Given the description of an element on the screen output the (x, y) to click on. 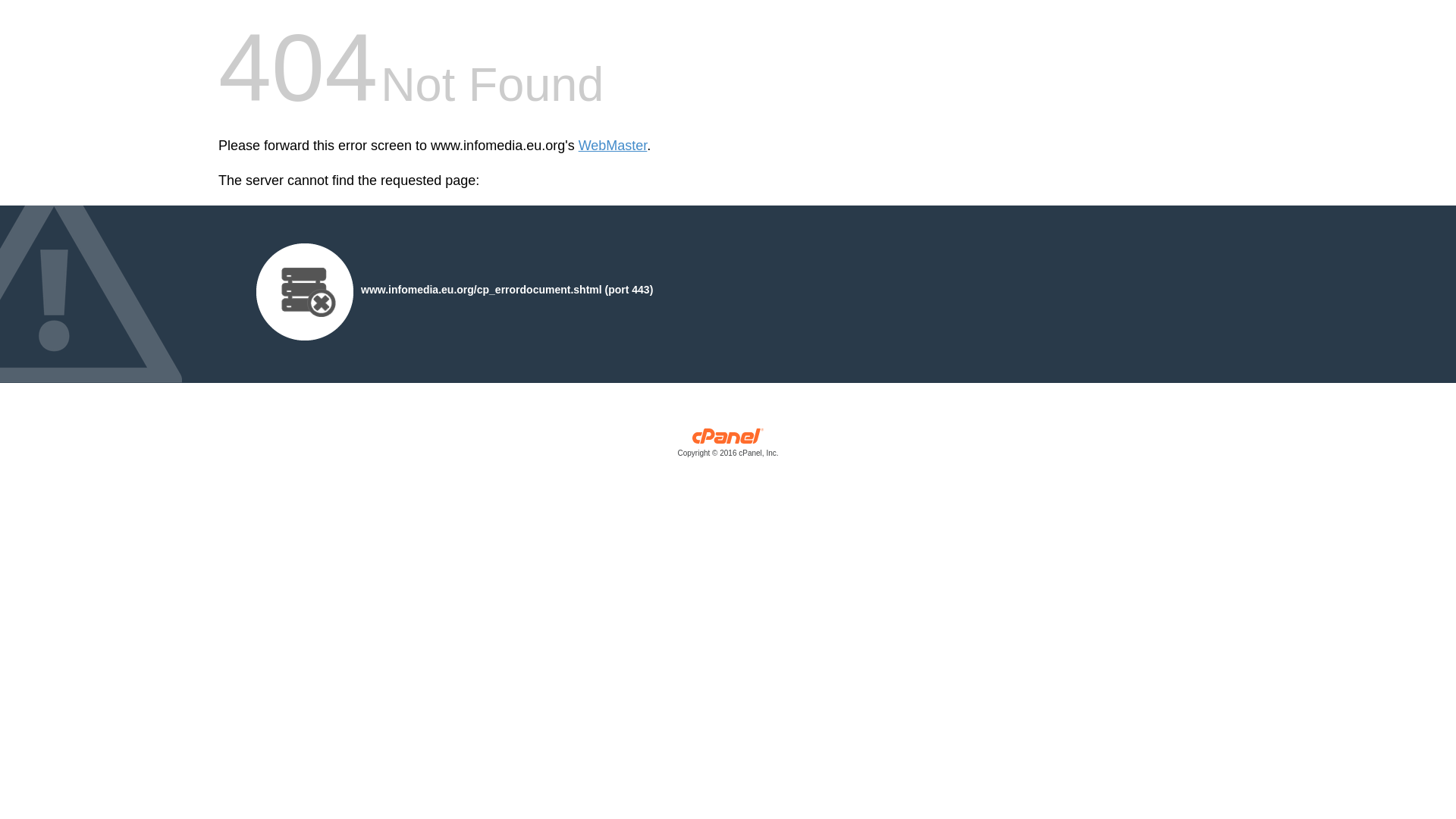
WebMaster (612, 145)
cPanel, Inc. (727, 446)
